Given the description of an element on the screen output the (x, y) to click on. 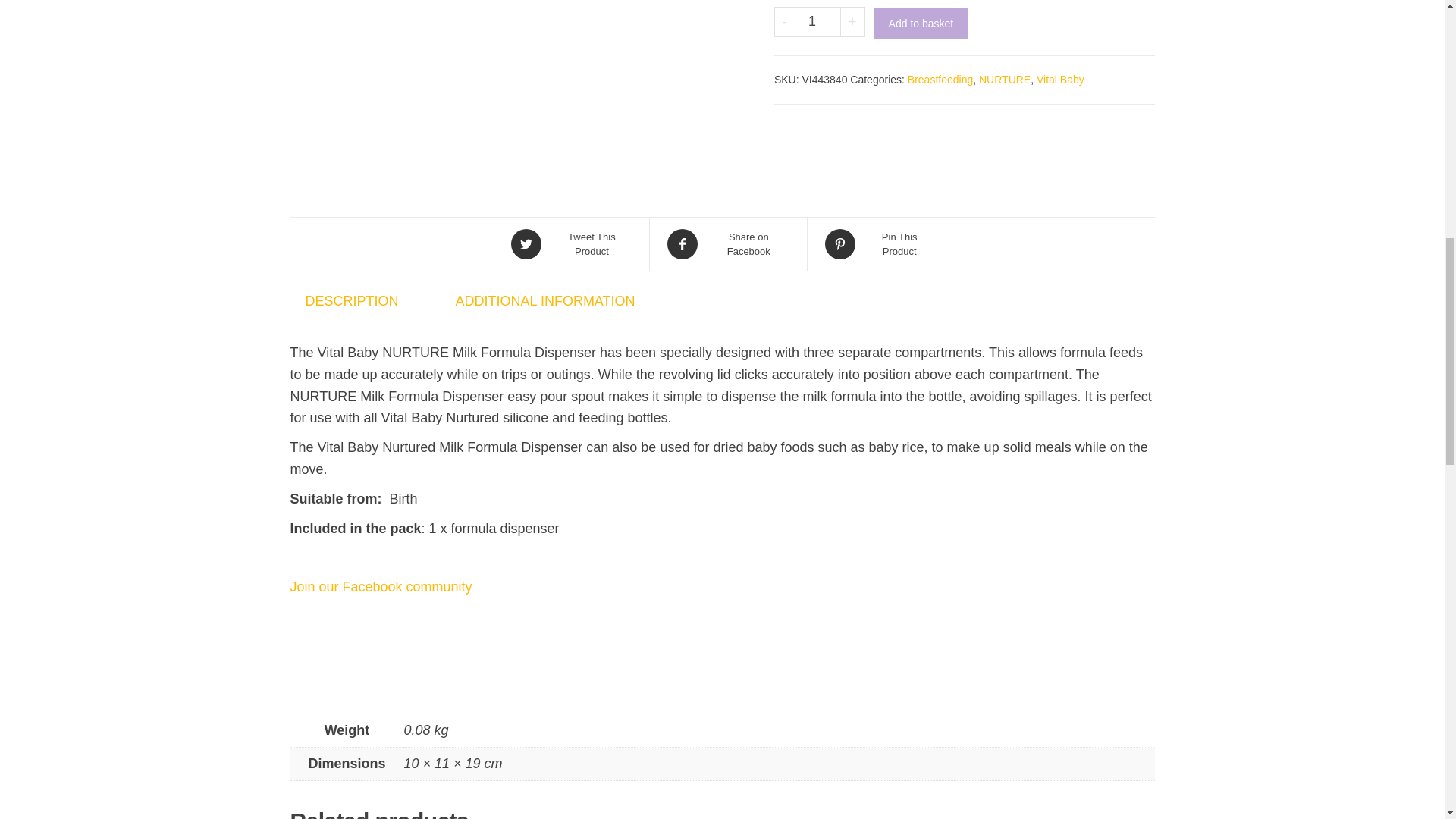
Vital Baby (1060, 79)
NURTURE (1004, 79)
Tweet This Product (570, 244)
Breastfeeding (939, 79)
1 (817, 21)
Add to basket (920, 23)
